Given the description of an element on the screen output the (x, y) to click on. 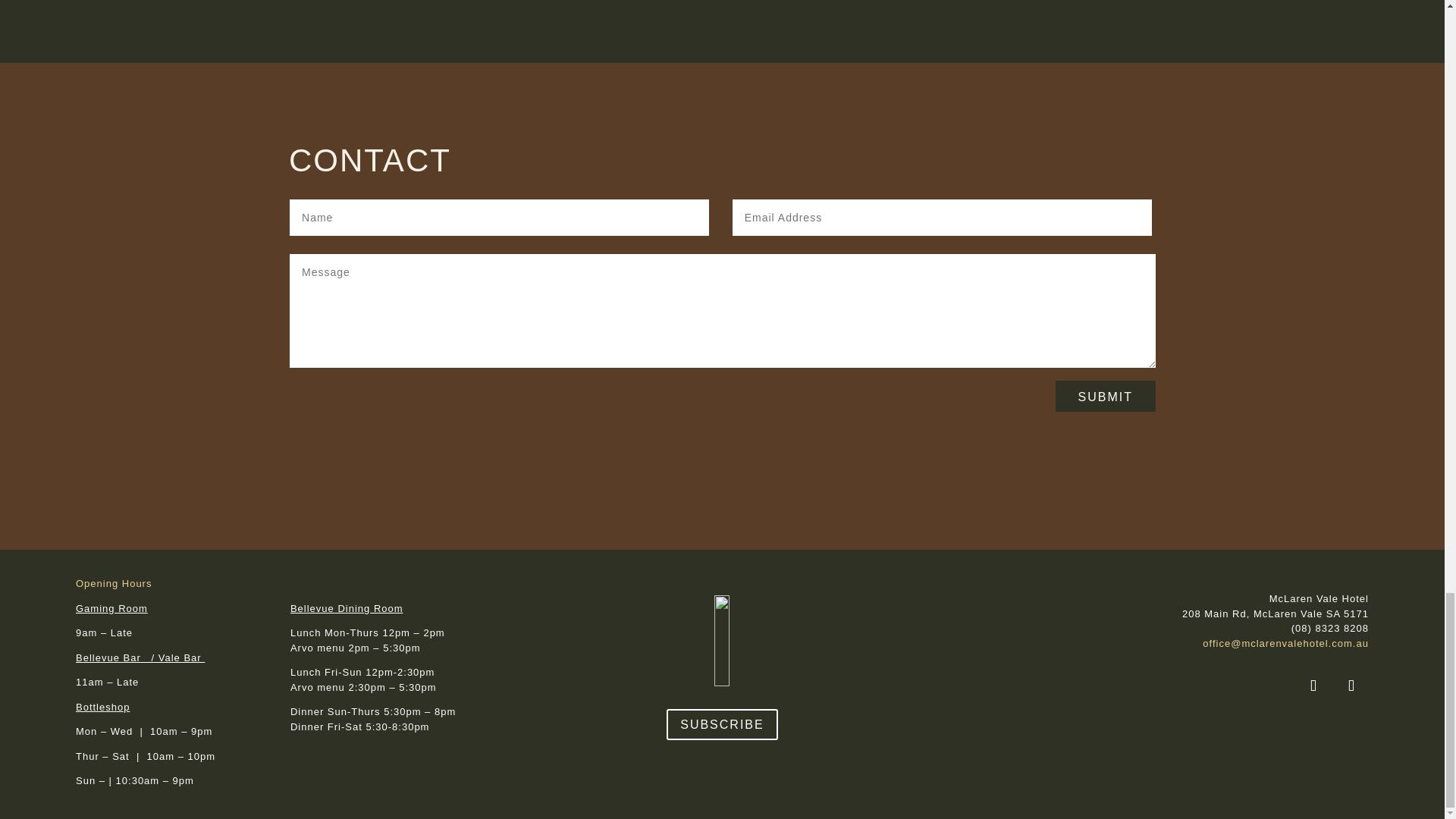
Follow on Facebook (1313, 685)
Follow on Instagram (1351, 685)
MVH-Logo-White (721, 640)
